Given the description of an element on the screen output the (x, y) to click on. 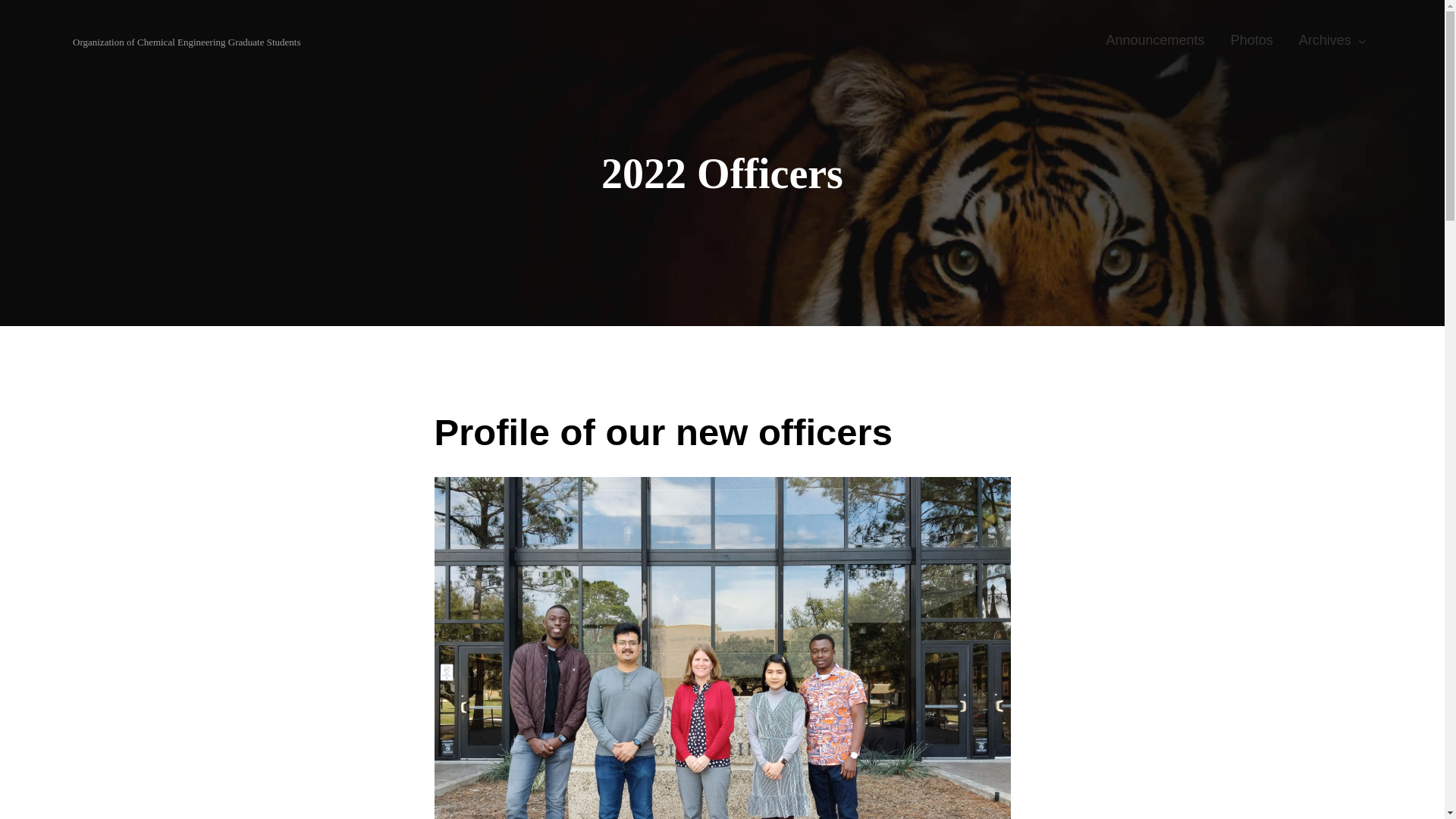
Announcements (1155, 40)
Archives (1325, 40)
Photos (1251, 40)
